Given the description of an element on the screen output the (x, y) to click on. 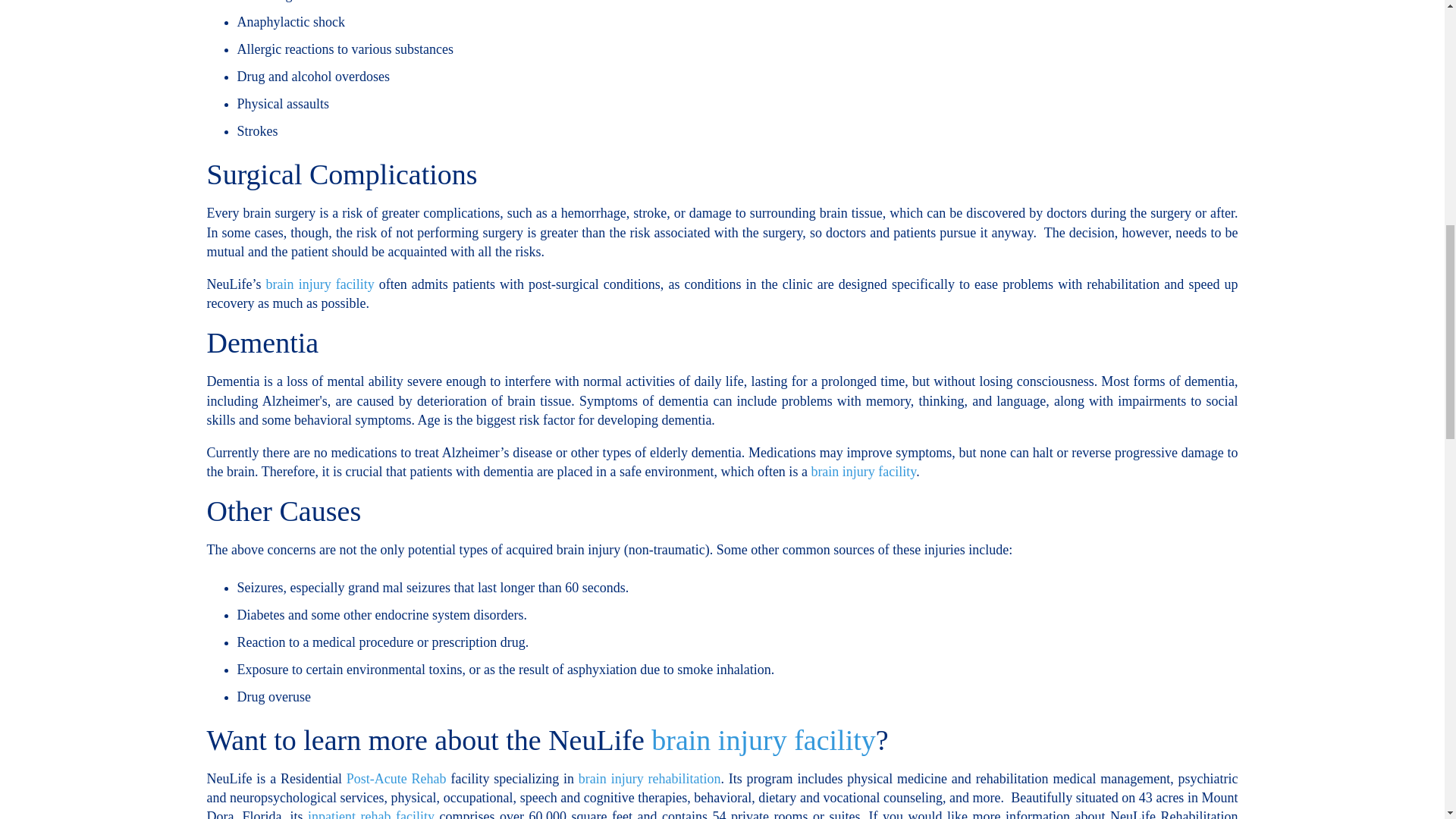
brain injury facility (760, 739)
brain injury rehabilitation (649, 778)
brain injury facility (320, 283)
brain injury facility (862, 471)
inpatient rehab facility (367, 814)
Post-Acute Rehab (394, 778)
